Given the description of an element on the screen output the (x, y) to click on. 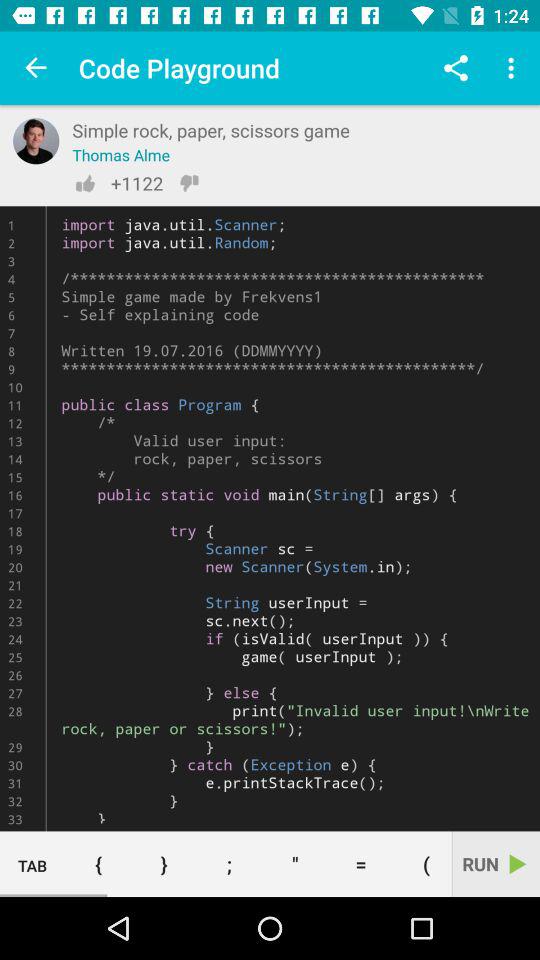
press item next to the tab icon (98, 863)
